Given the description of an element on the screen output the (x, y) to click on. 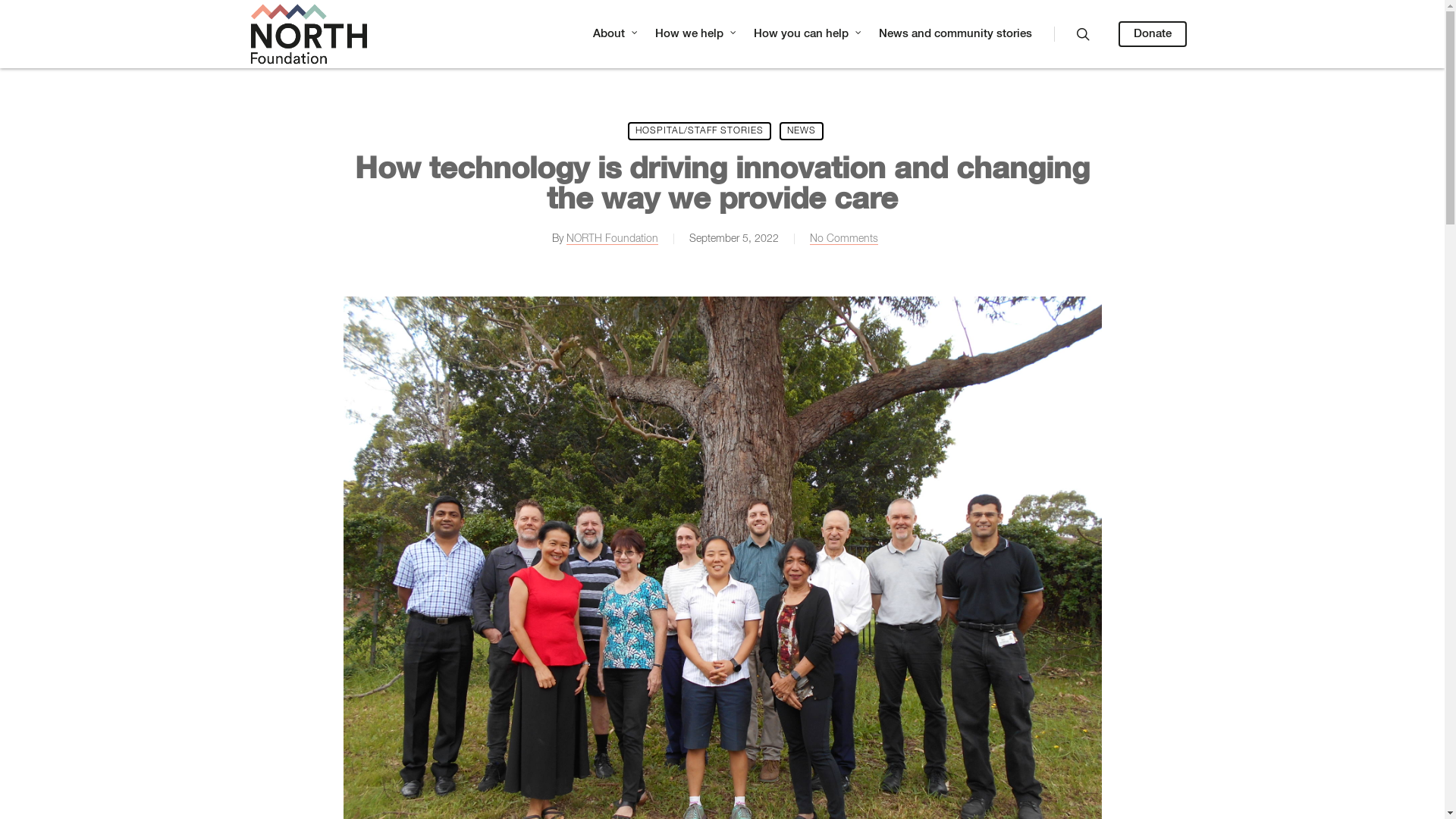
How you can help Element type: text (808, 33)
How we help Element type: text (696, 33)
search Element type: text (1082, 33)
HOSPITAL/STAFF STORIES Element type: text (699, 131)
NEWS Element type: text (801, 131)
NORTH Foundation Element type: text (611, 238)
Donate Element type: text (1152, 33)
News and community stories Element type: text (955, 33)
No Comments Element type: text (843, 238)
About Element type: text (616, 33)
